Given the description of an element on the screen output the (x, y) to click on. 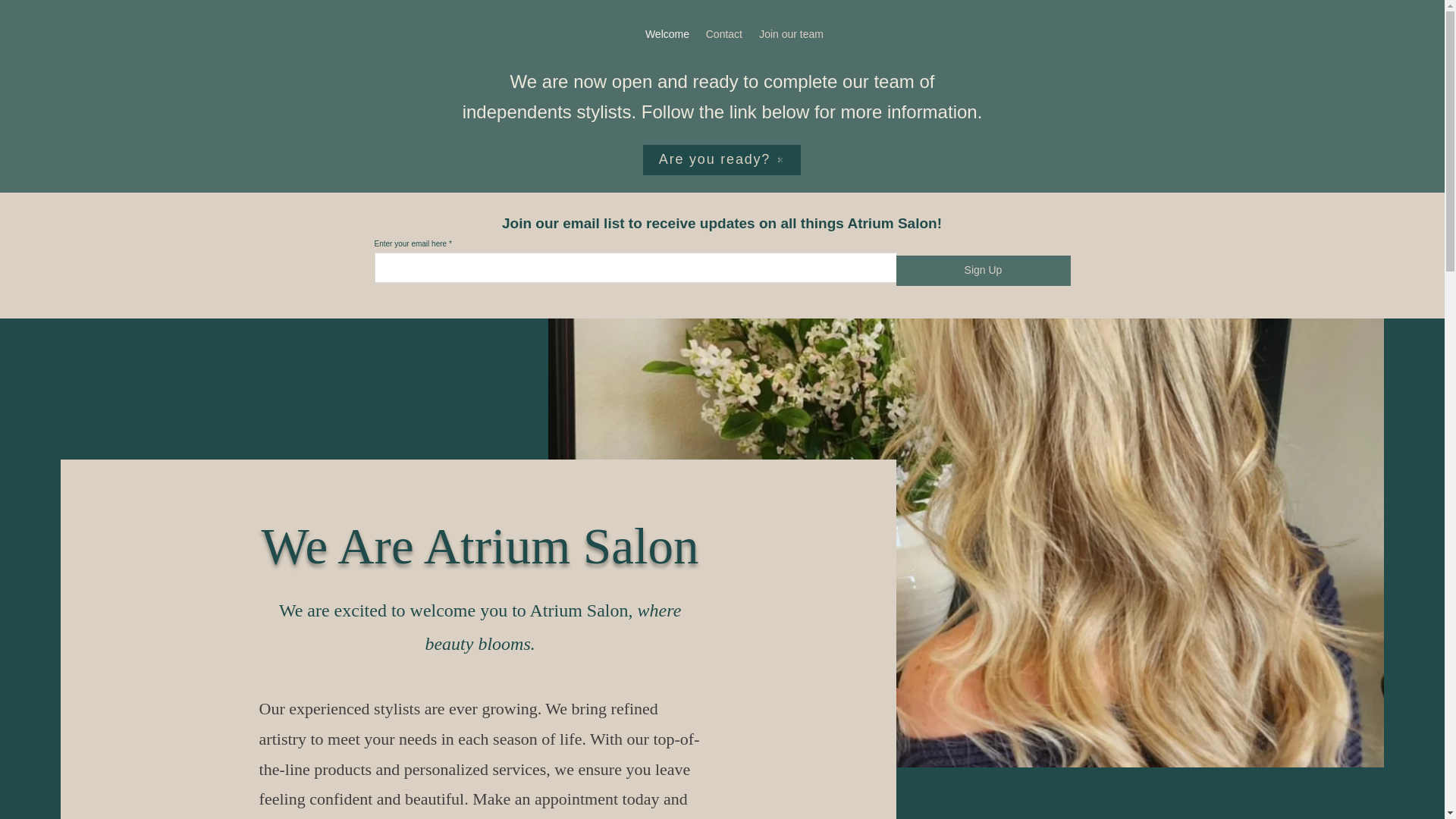
Log In (1016, 58)
Welcome (667, 34)
Contact (723, 34)
Are you ready? (721, 159)
Sign Up (983, 270)
Join our team (790, 34)
